Given the description of an element on the screen output the (x, y) to click on. 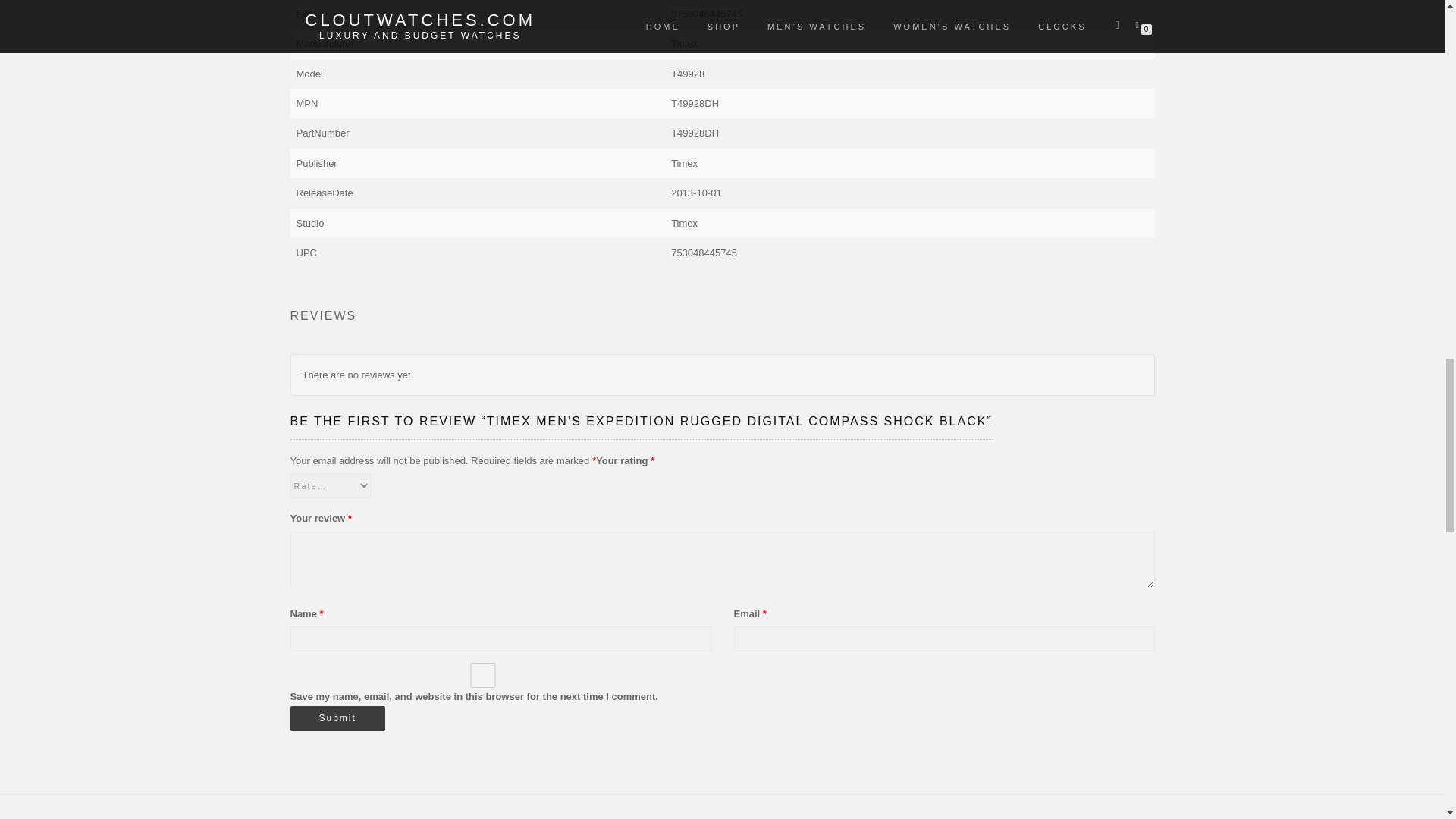
yes (482, 674)
Submit (336, 718)
Submit (336, 718)
